Given the description of an element on the screen output the (x, y) to click on. 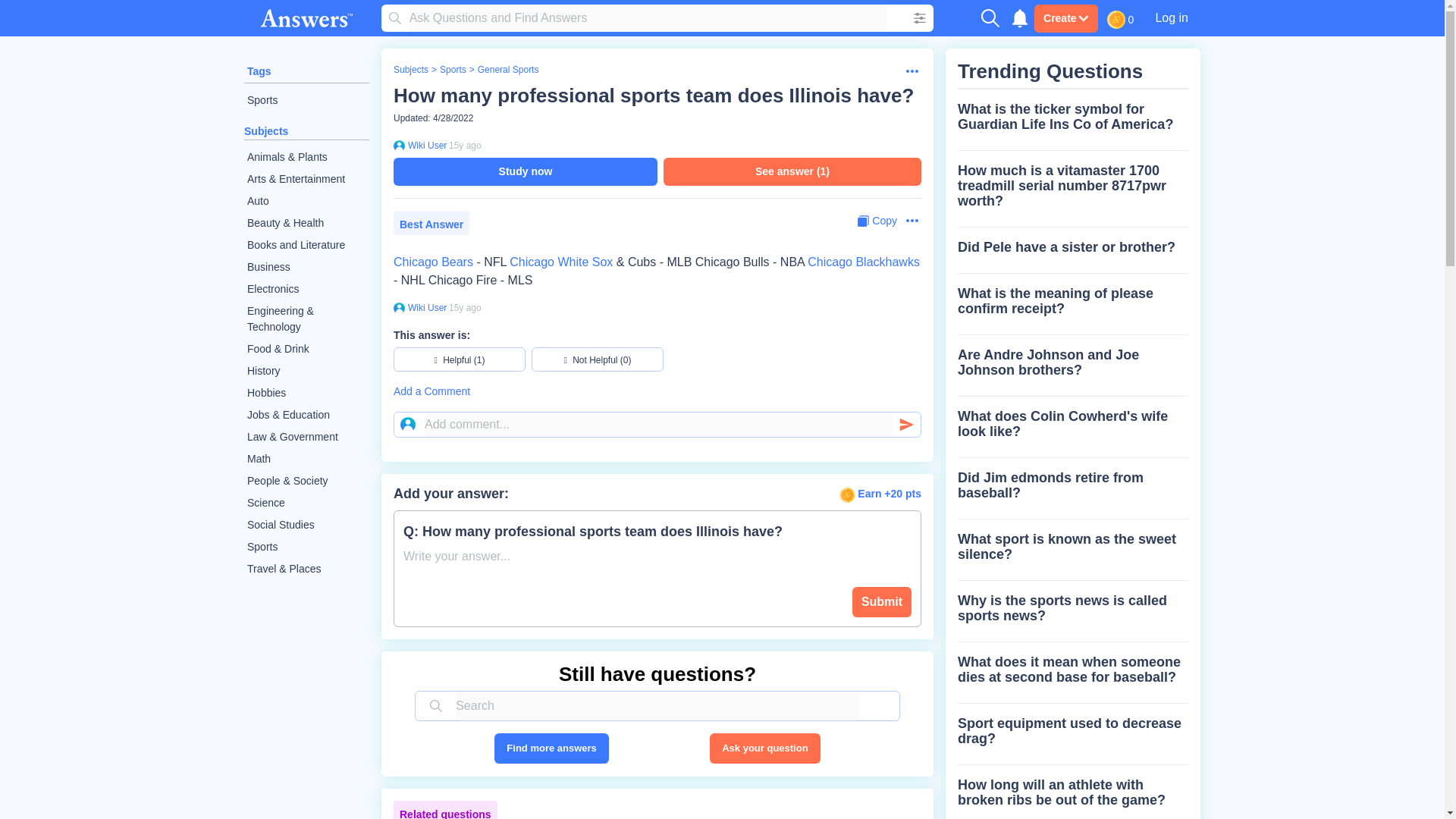
Chicago Bears (433, 261)
Tags (258, 70)
Create (1065, 18)
Auto (306, 201)
Log in (1170, 17)
2009-06-04 06:21:24 (464, 307)
General Sports (507, 69)
Business (306, 267)
Social Studies (306, 525)
Electronics (306, 289)
